Given the description of an element on the screen output the (x, y) to click on. 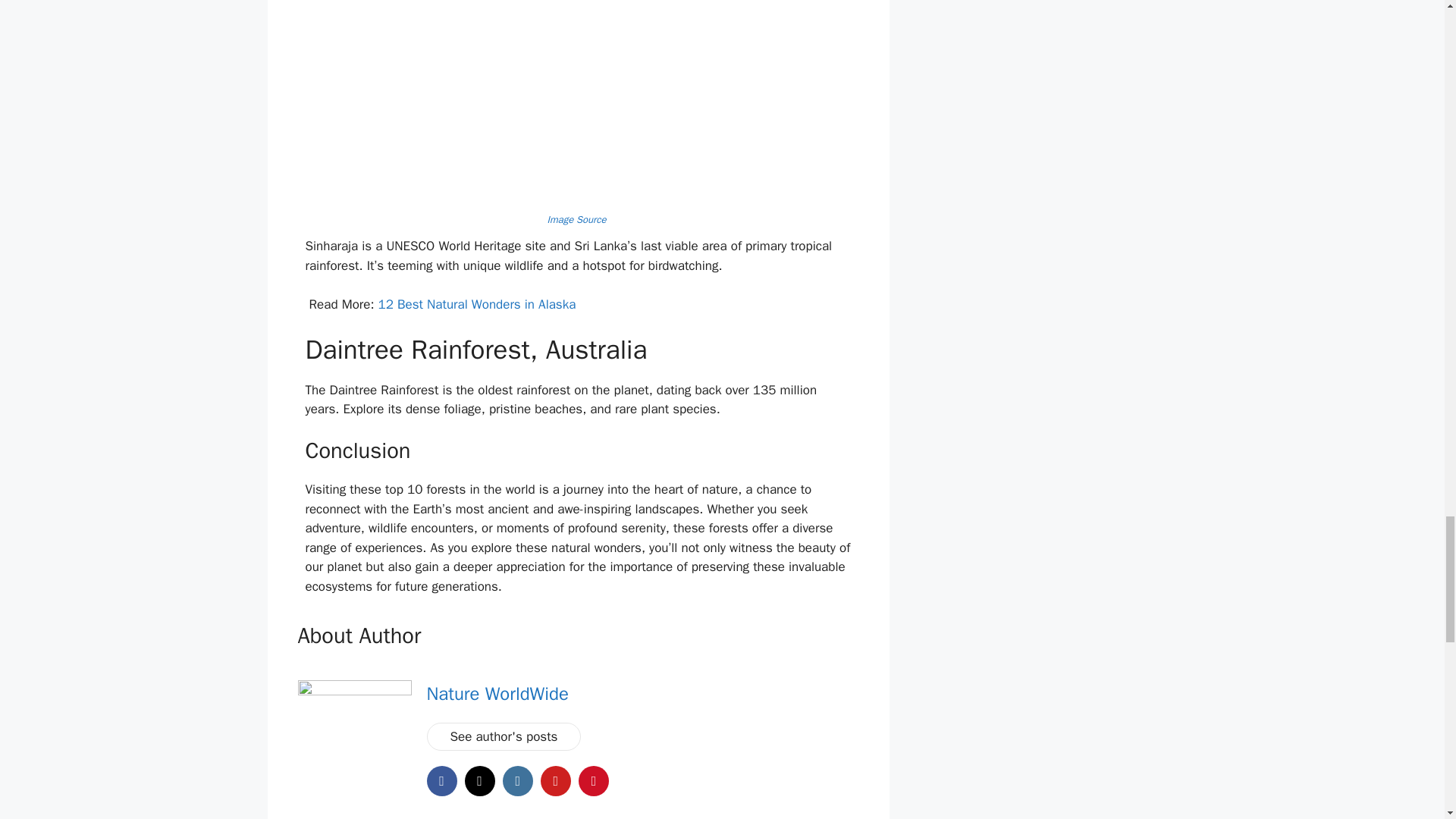
12 Best Natural Wonders in Alaska (477, 304)
See author's posts (503, 736)
Nature WorldWide (496, 693)
Image Source  (578, 219)
